Given the description of an element on the screen output the (x, y) to click on. 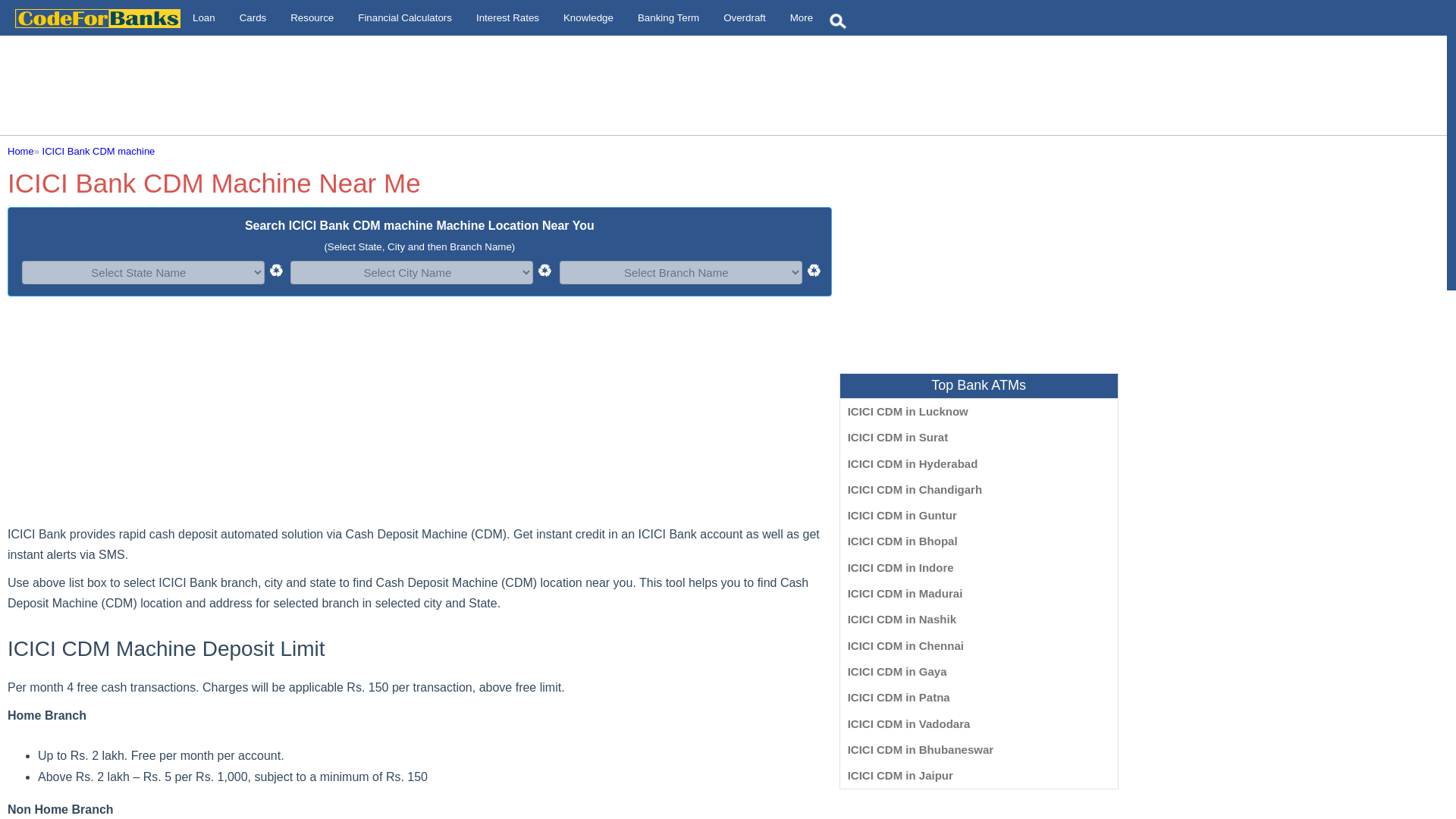
Cards (253, 18)
ICICI CDM in Indore (900, 567)
Loan (203, 18)
Banking Term (668, 18)
ICICI CDM in Patna (898, 697)
Financial Calculators (405, 18)
ICICI CDM in Chandigarh (914, 489)
More (801, 18)
ICICI CDM in Guntur (901, 514)
ICICI CDM in Lucknow (907, 410)
ICICI CDM in Bhubaneswar (920, 748)
ICICI CDM in Vadodara (909, 723)
ICICI CDM in Bhopal (902, 540)
ICICI CDM in Madurai (904, 593)
